Given the description of an element on the screen output the (x, y) to click on. 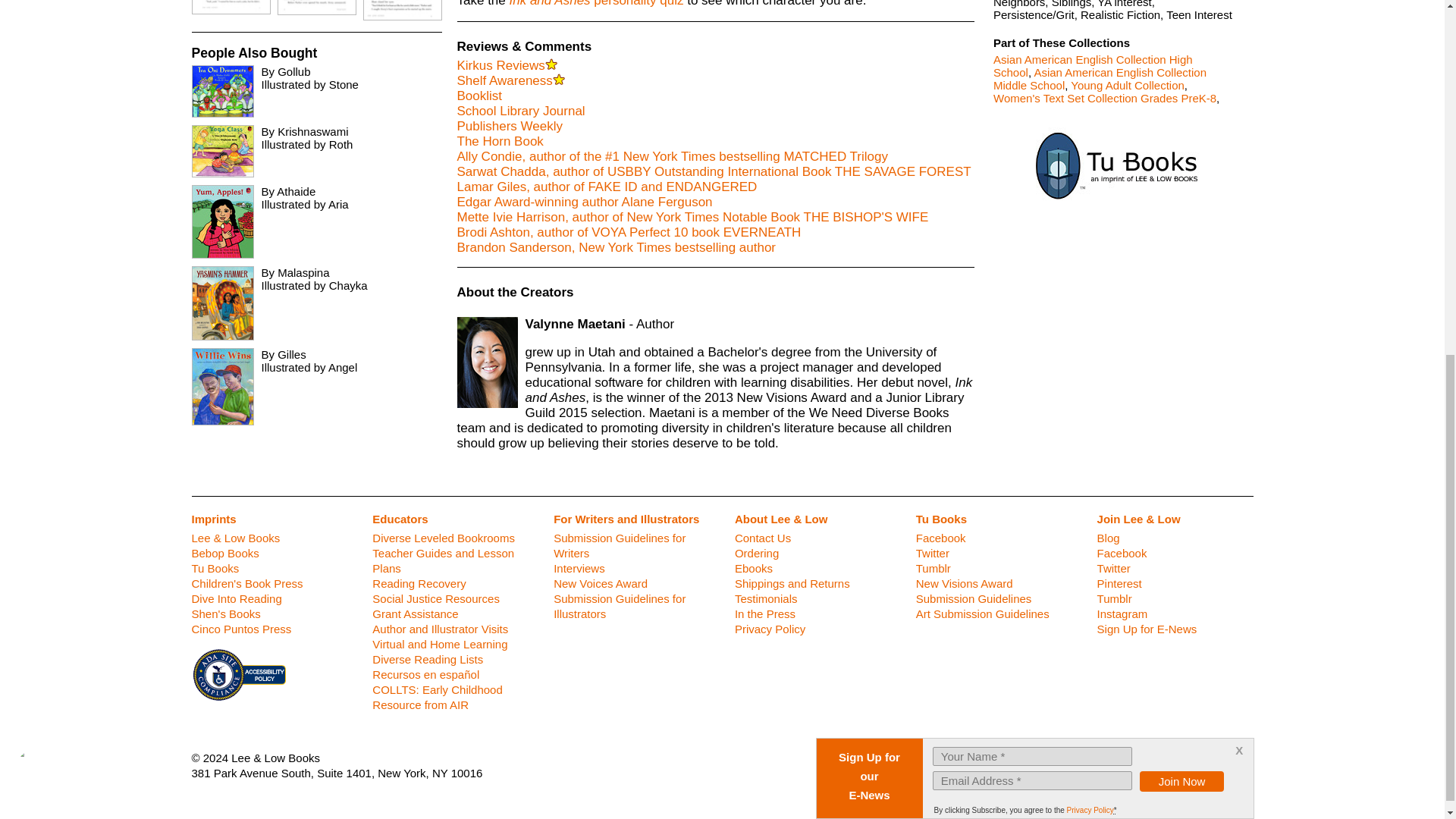
Join Now (1182, 148)
Close (1238, 117)
Accessibility Menu (43, 143)
Accessibility Menu (47, 146)
Where Imagination and Real Life Collide (1111, 166)
